Given the description of an element on the screen output the (x, y) to click on. 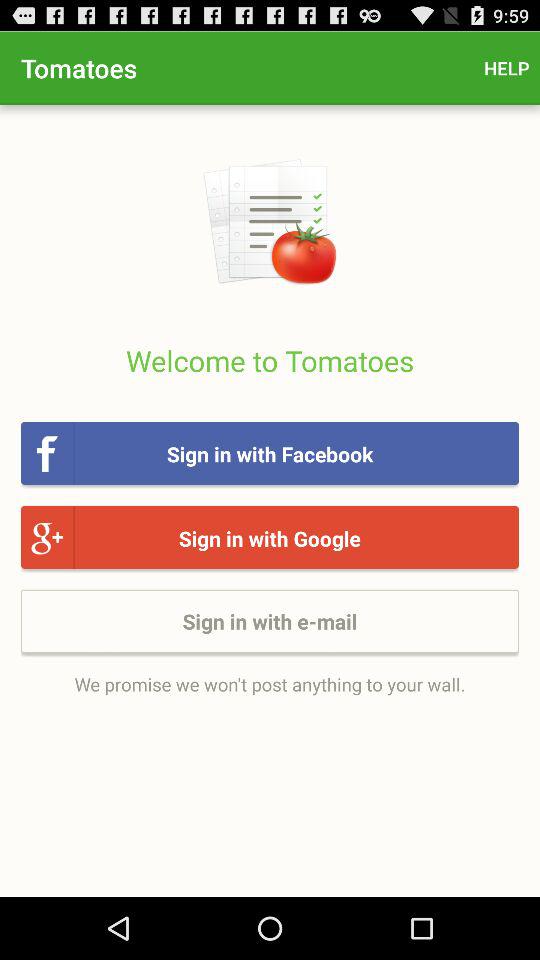
flip to the help icon (506, 67)
